Given the description of an element on the screen output the (x, y) to click on. 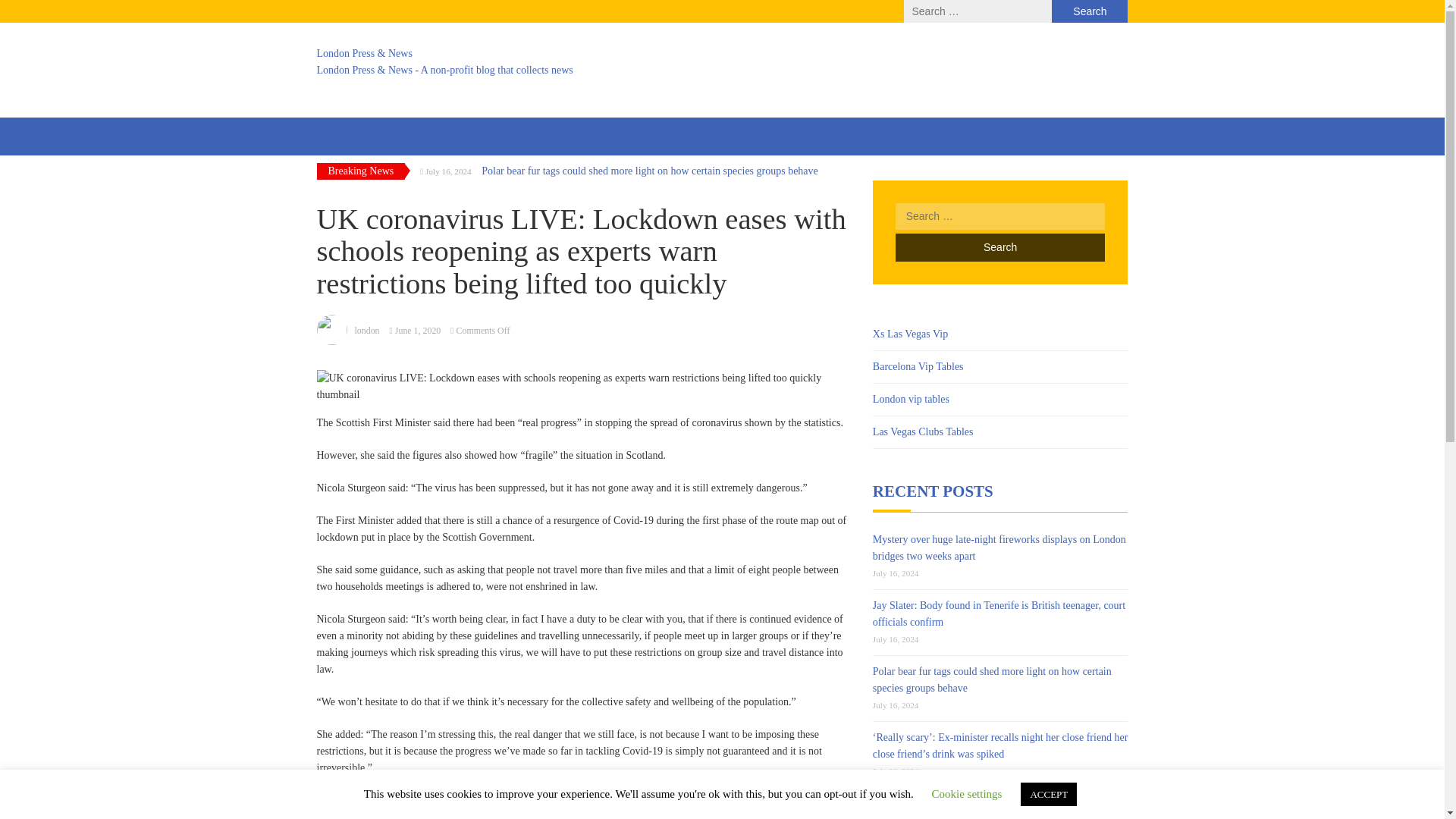
Search (1088, 11)
London vip tables (910, 398)
london (367, 330)
Las Vegas Clubs Tables (923, 431)
ACCEPT (1048, 793)
Cookie settings (967, 793)
Barcelona Vip Tables (917, 366)
Search (1000, 247)
Search (1000, 247)
June 1, 2020 (417, 330)
Search (1000, 247)
